Given the description of an element on the screen output the (x, y) to click on. 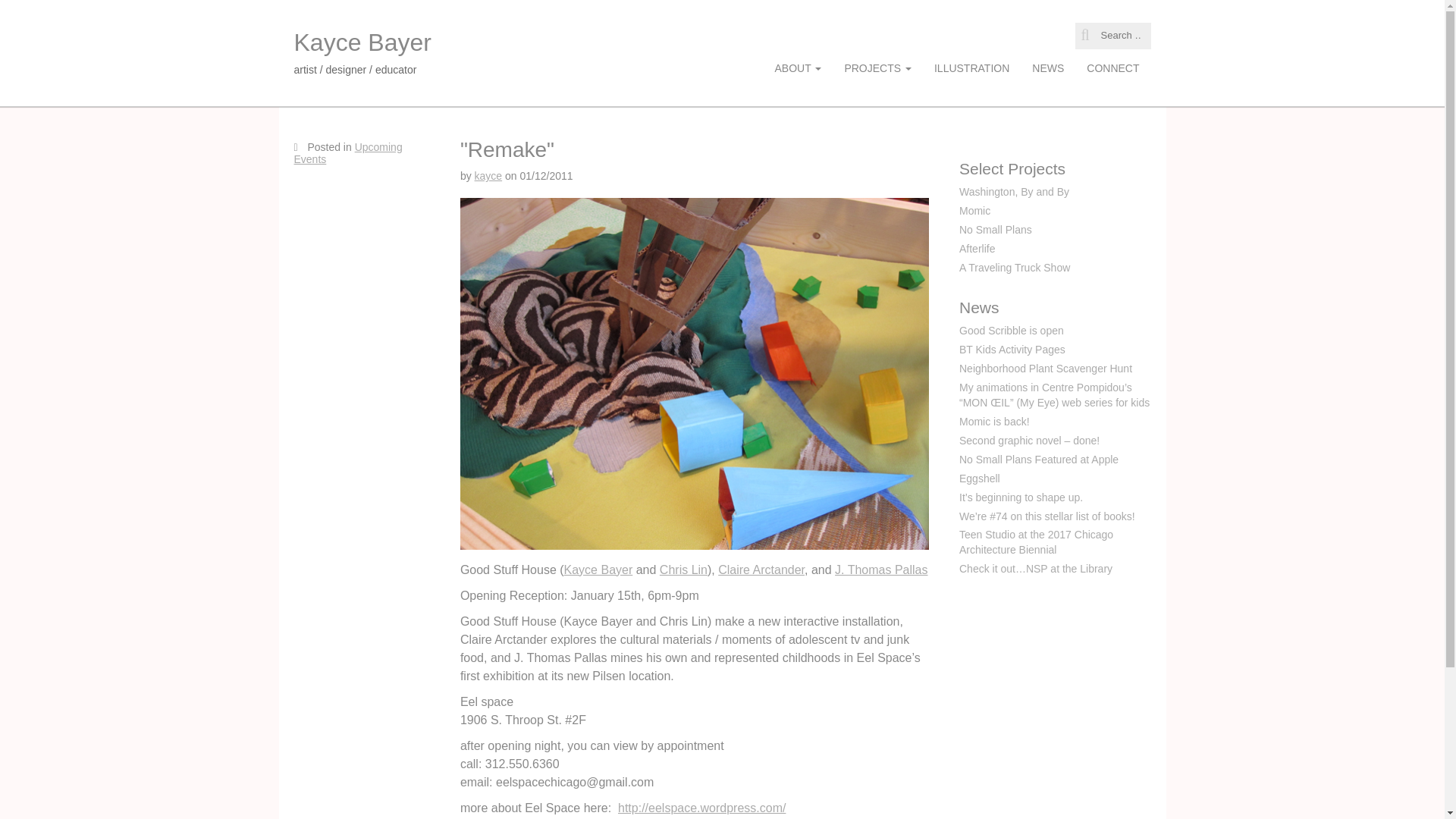
Kayce Bayer (362, 42)
Afterlife (976, 248)
No Small Plans (995, 229)
Kayce Bayer (598, 569)
Good Scribble is open (1011, 330)
Washington, By and By (1013, 191)
